Given the description of an element on the screen output the (x, y) to click on. 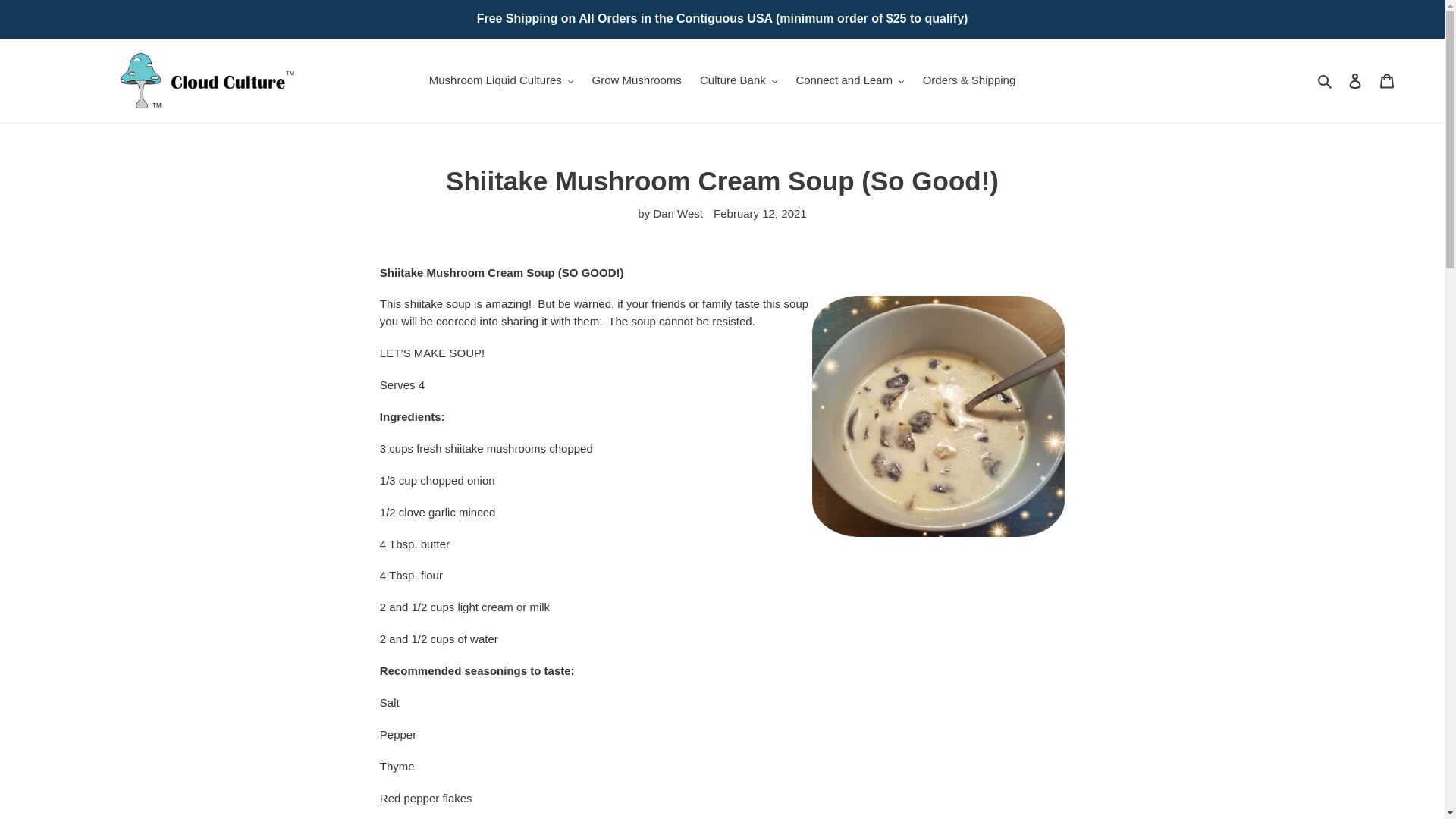
Connect and Learn (849, 80)
Search (1326, 80)
Log in (1355, 80)
Mushroom Liquid Cultures (501, 80)
Grow Mushrooms (635, 80)
Cart (1387, 80)
Culture Bank (738, 80)
